Given the description of an element on the screen output the (x, y) to click on. 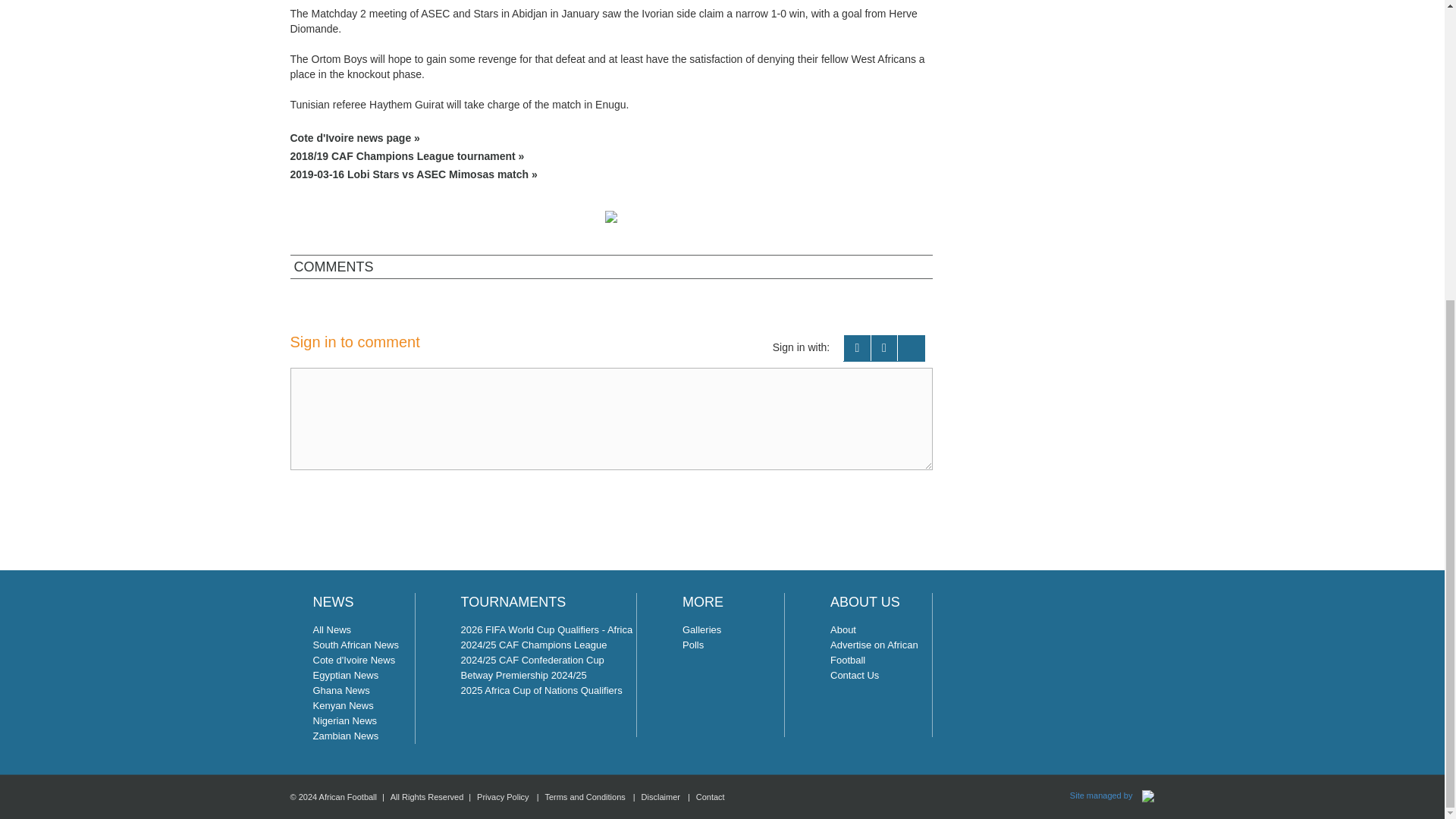
Cote d (611, 138)
2019-03-16 Lobi Stars  vs ASEC Mimosas match (611, 174)
Sign in with your Twitter details (884, 347)
Sign in with your Facebook details (856, 347)
